Given the description of an element on the screen output the (x, y) to click on. 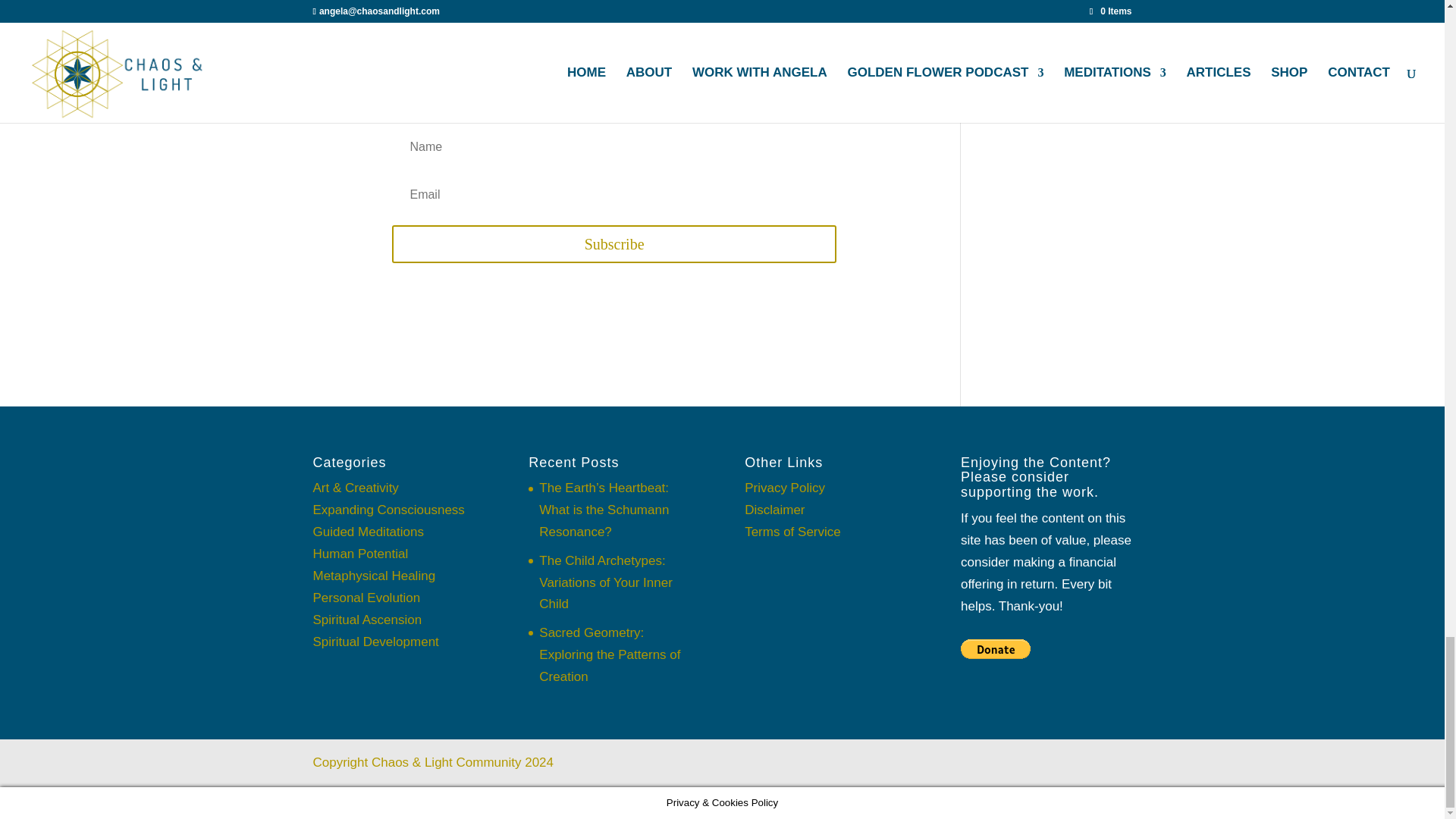
PayPal - The safer, easier way to pay online! (995, 649)
Human Potential (360, 554)
Subscribe (613, 243)
Expanding Consciousness (388, 509)
Metaphysical Healing (374, 575)
Guided Meditations (368, 531)
